Given the description of an element on the screen output the (x, y) to click on. 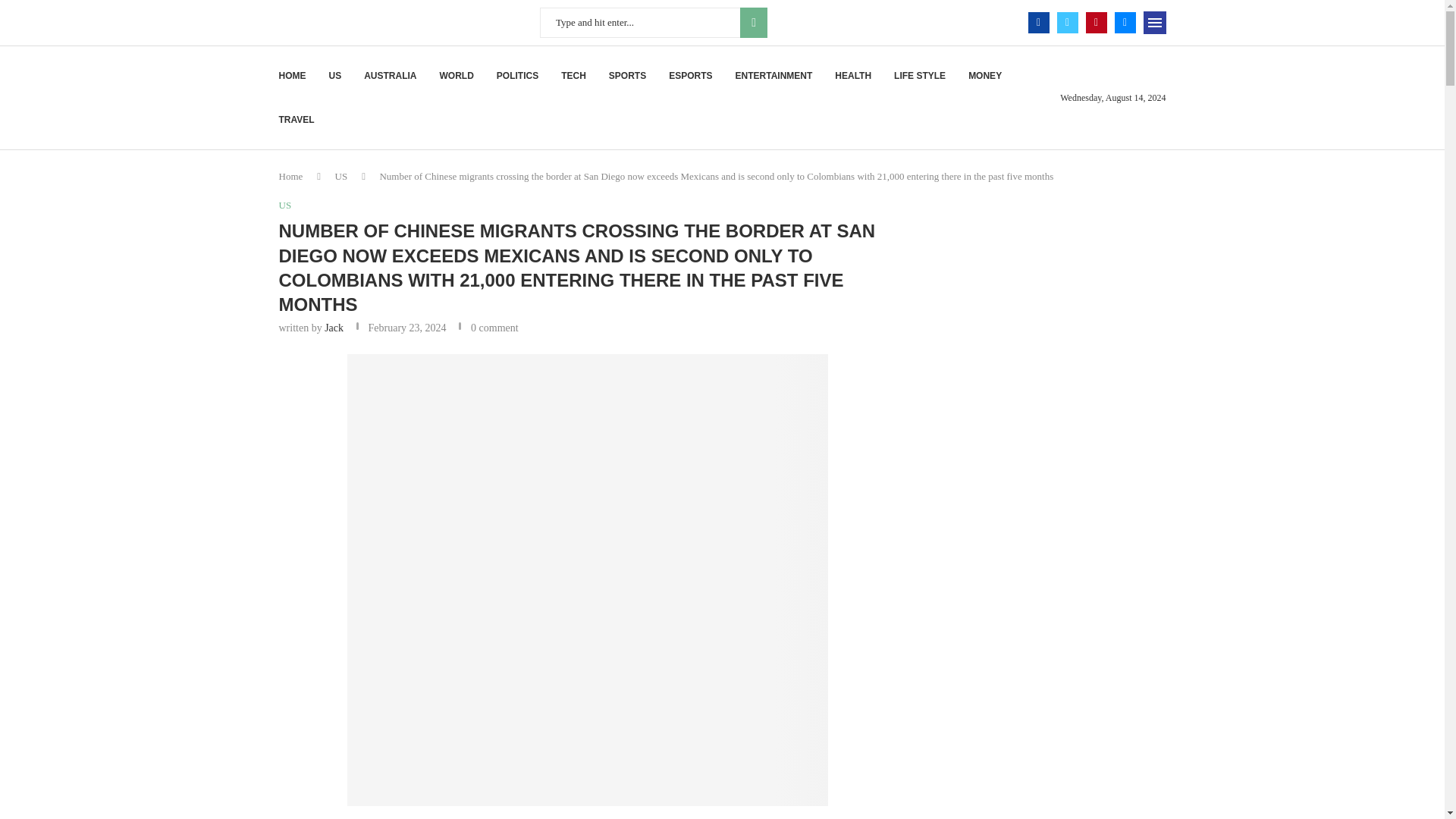
ESPORTS (689, 75)
AUSTRALIA (390, 75)
LIFE STYLE (918, 75)
ENTERTAINMENT (773, 75)
POLITICS (517, 75)
SEARCH (753, 22)
